Given the description of an element on the screen output the (x, y) to click on. 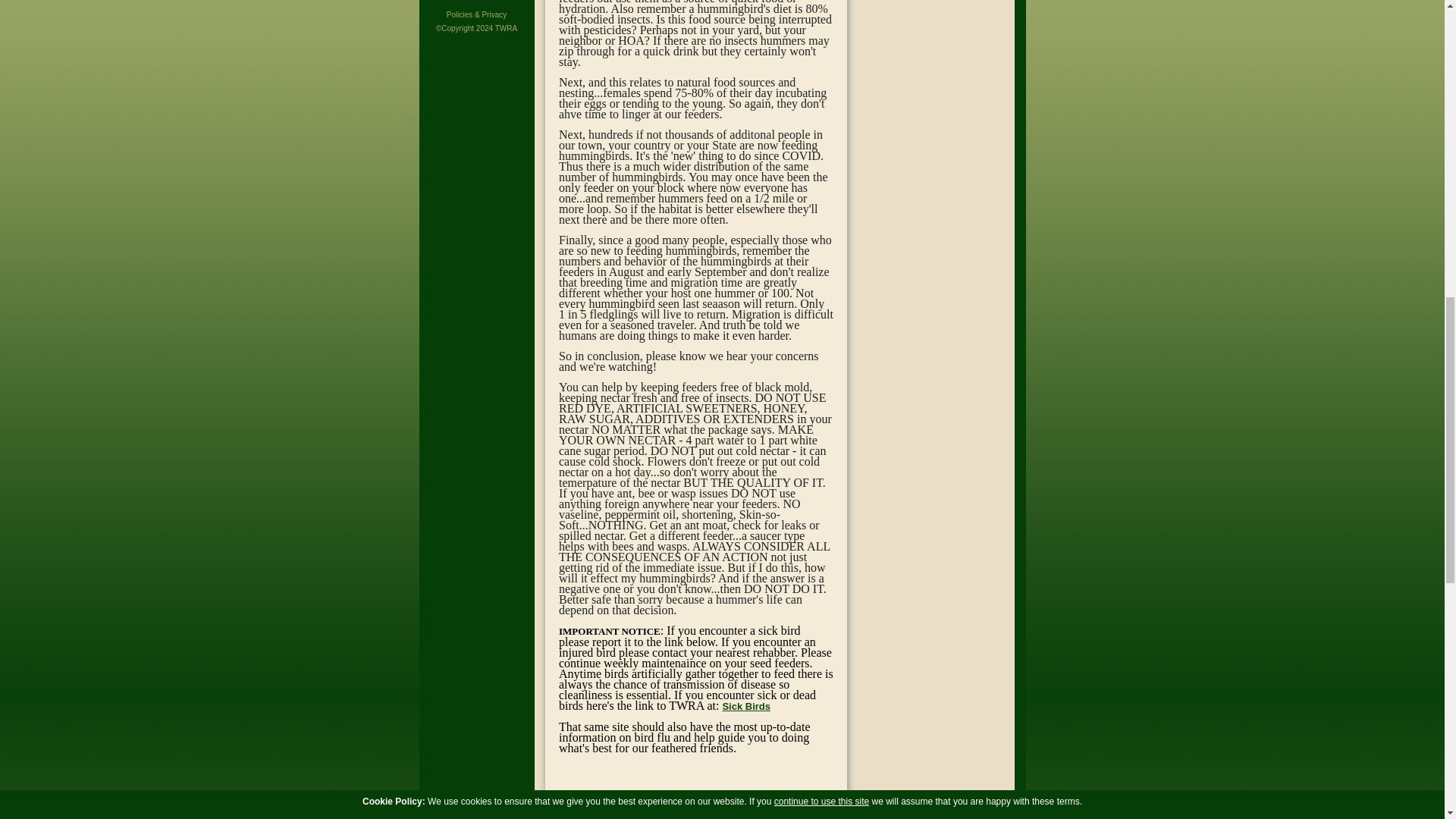
Sick Birds (746, 706)
